Given the description of an element on the screen output the (x, y) to click on. 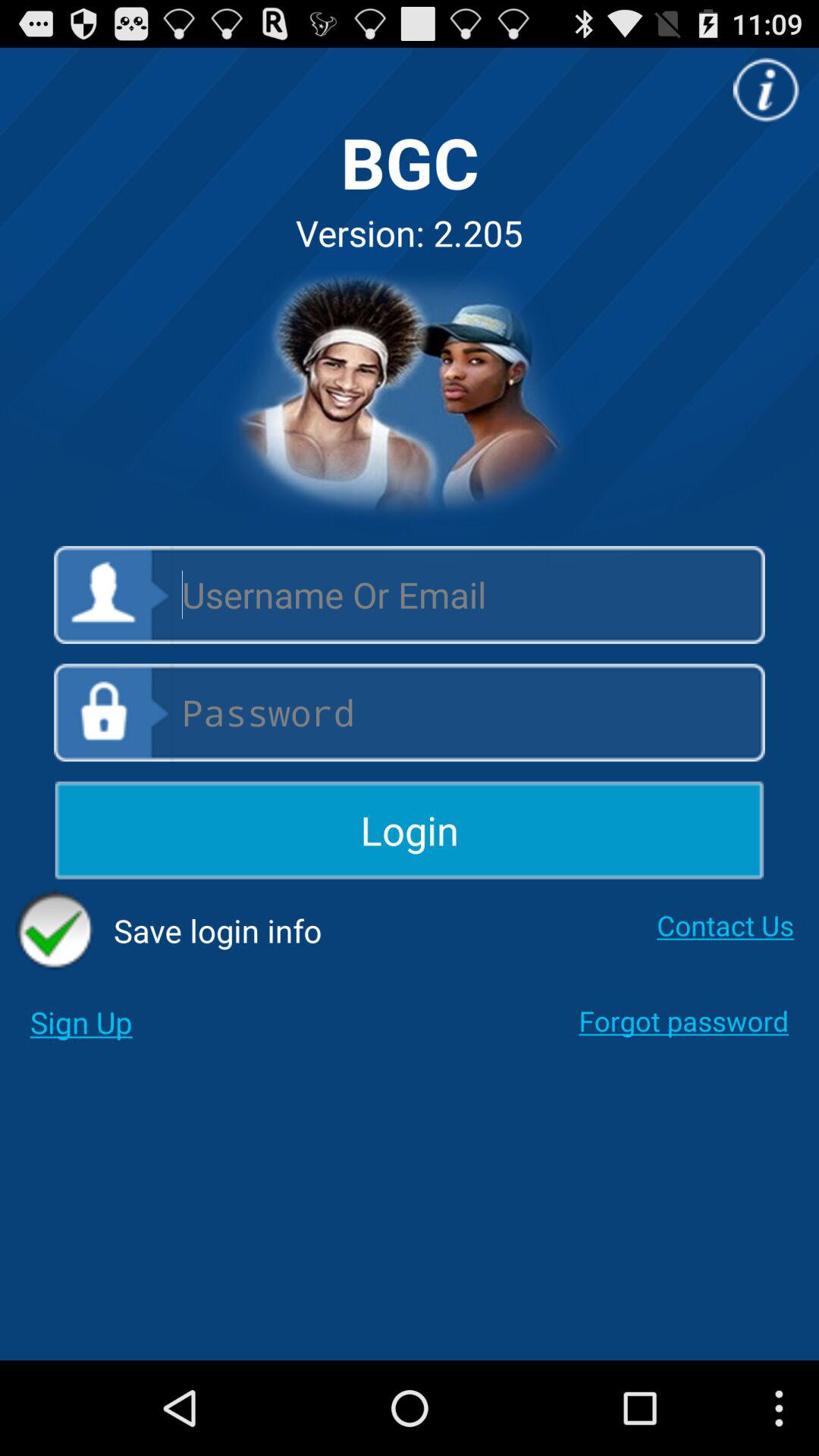
flip until save login info checkbox (168, 930)
